Given the description of an element on the screen output the (x, y) to click on. 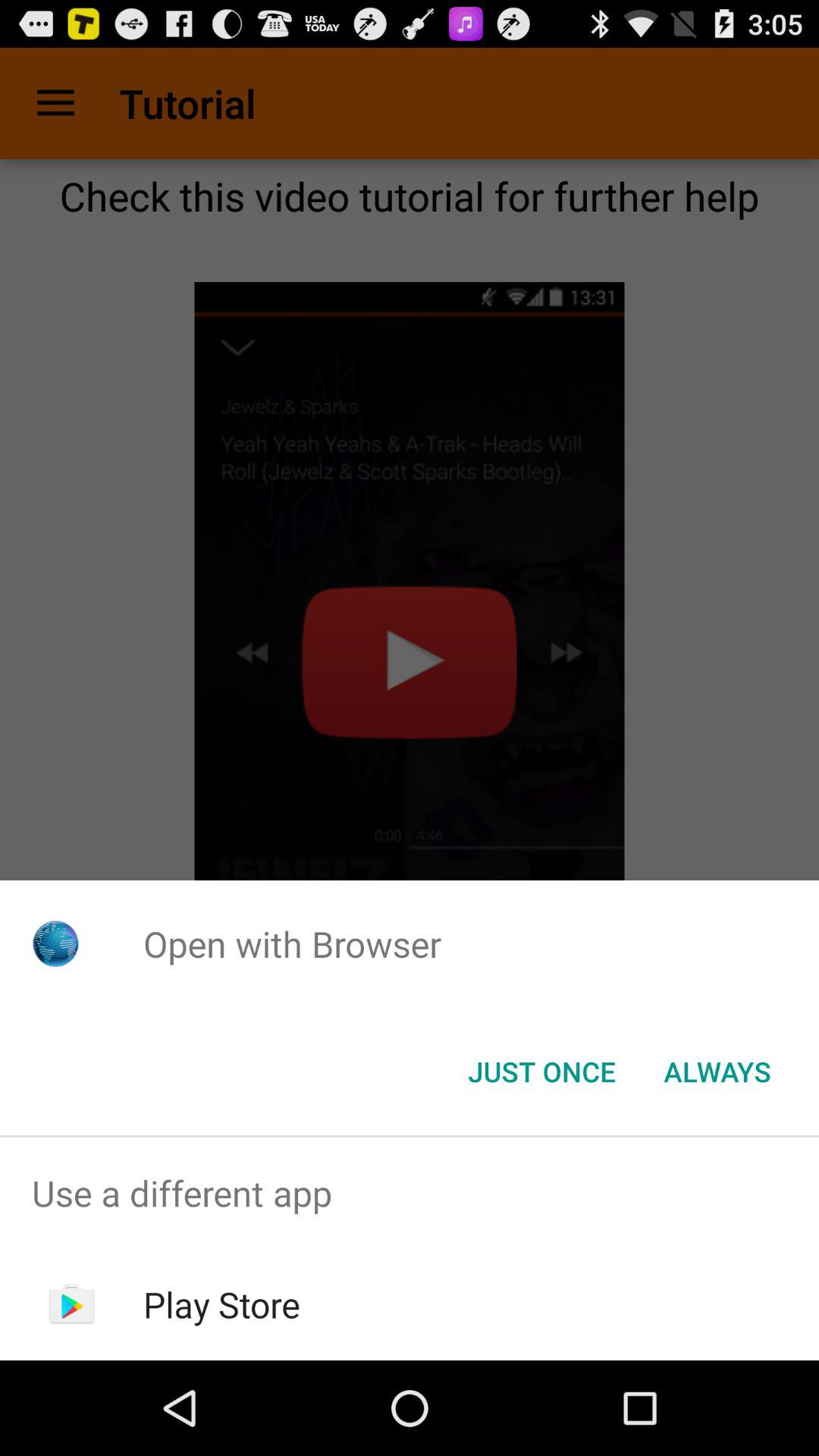
open the item above the play store (409, 1192)
